Given the description of an element on the screen output the (x, y) to click on. 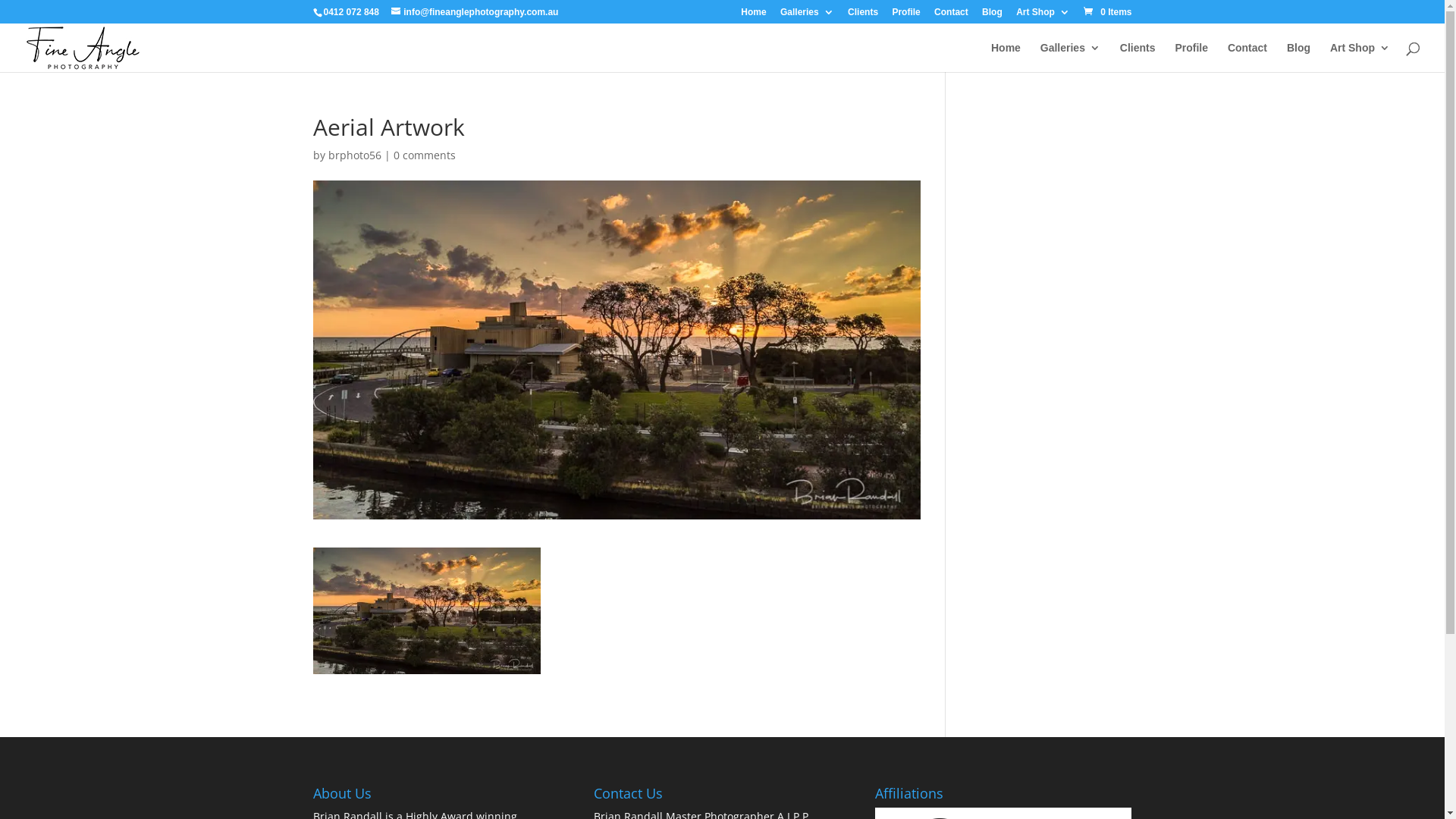
Art Shop Element type: text (1043, 15)
info@fineanglephotography.com.au Element type: text (474, 11)
Home Element type: text (752, 15)
0 comments Element type: text (423, 154)
Contact Element type: text (1247, 57)
Contact Element type: text (951, 15)
0 Items Element type: text (1106, 11)
brphoto56 Element type: text (353, 154)
Blog Element type: text (992, 15)
Clients Element type: text (1137, 57)
Profile Element type: text (905, 15)
Home Element type: text (1005, 57)
Clients Element type: text (862, 15)
Galleries Element type: text (807, 15)
Art Shop Element type: text (1360, 57)
Blog Element type: text (1298, 57)
Galleries Element type: text (1070, 57)
Profile Element type: text (1191, 57)
0412 072 848 Element type: text (350, 11)
